Given the description of an element on the screen output the (x, y) to click on. 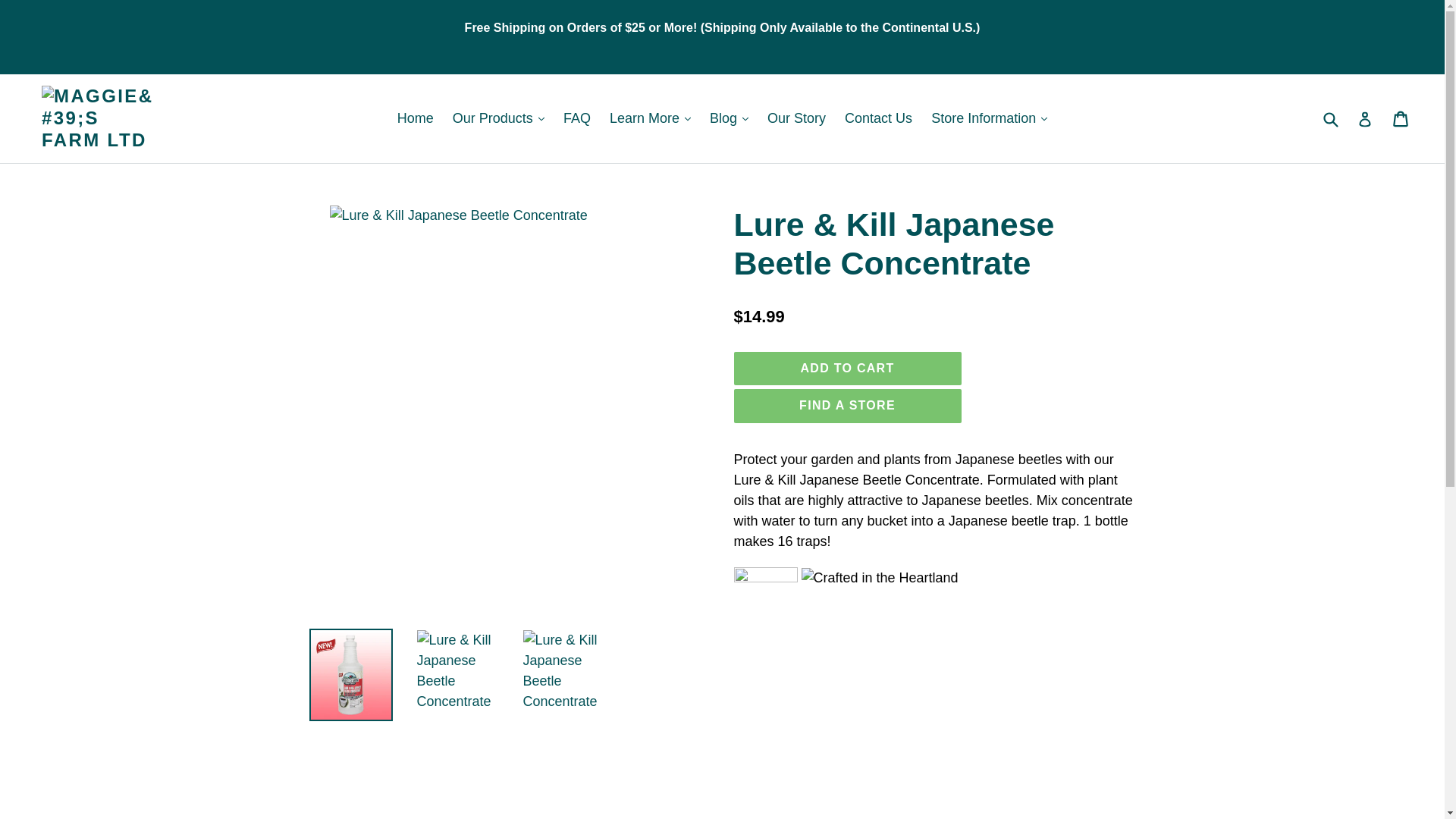
Home (415, 118)
